Given the description of an element on the screen output the (x, y) to click on. 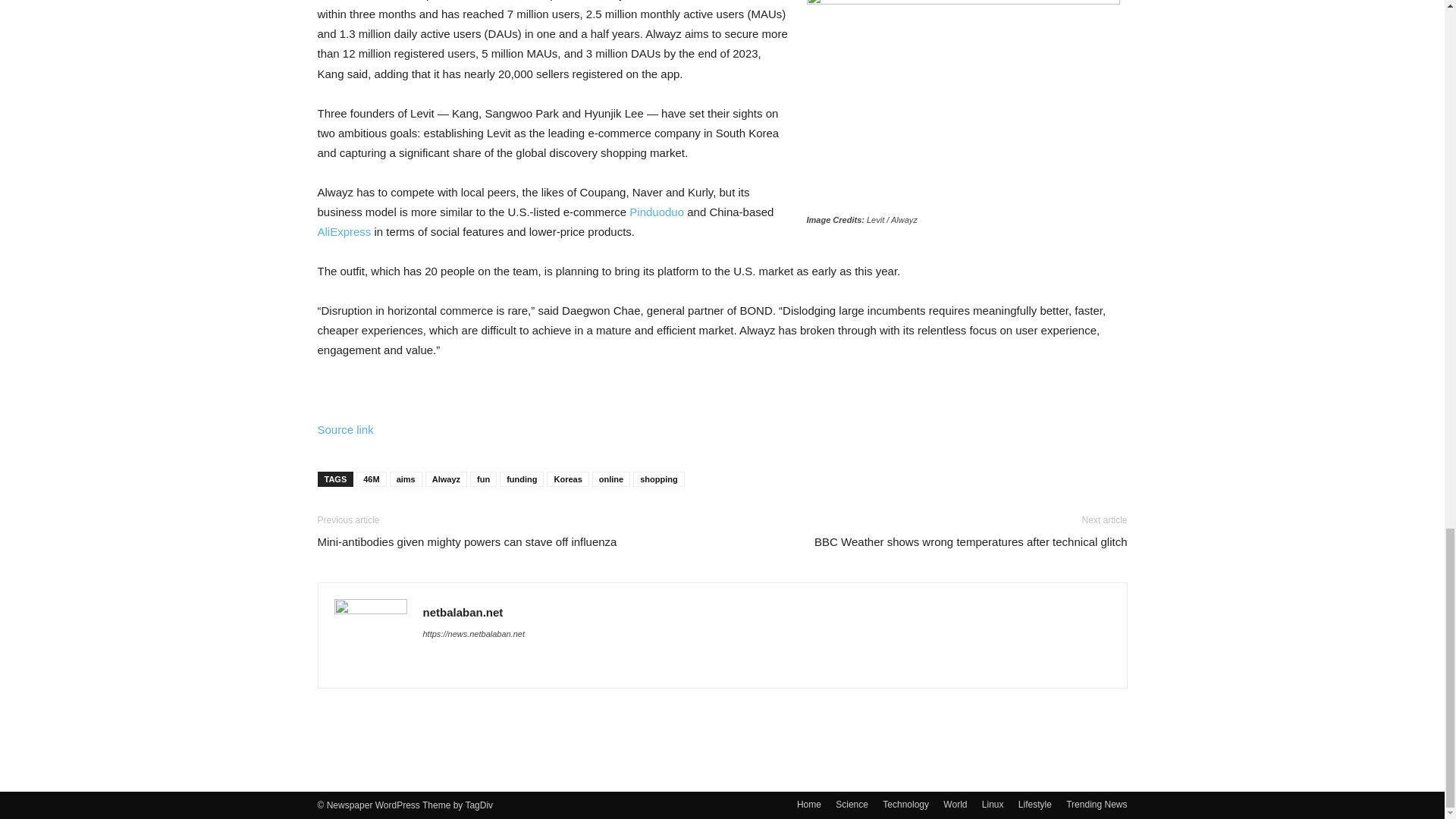
fun (483, 478)
Source link (344, 429)
Koreas (567, 478)
Alwayz (446, 478)
funding (521, 478)
46M (370, 478)
AliExpress (344, 231)
Pinduoduo (656, 211)
aims (406, 478)
